Given the description of an element on the screen output the (x, y) to click on. 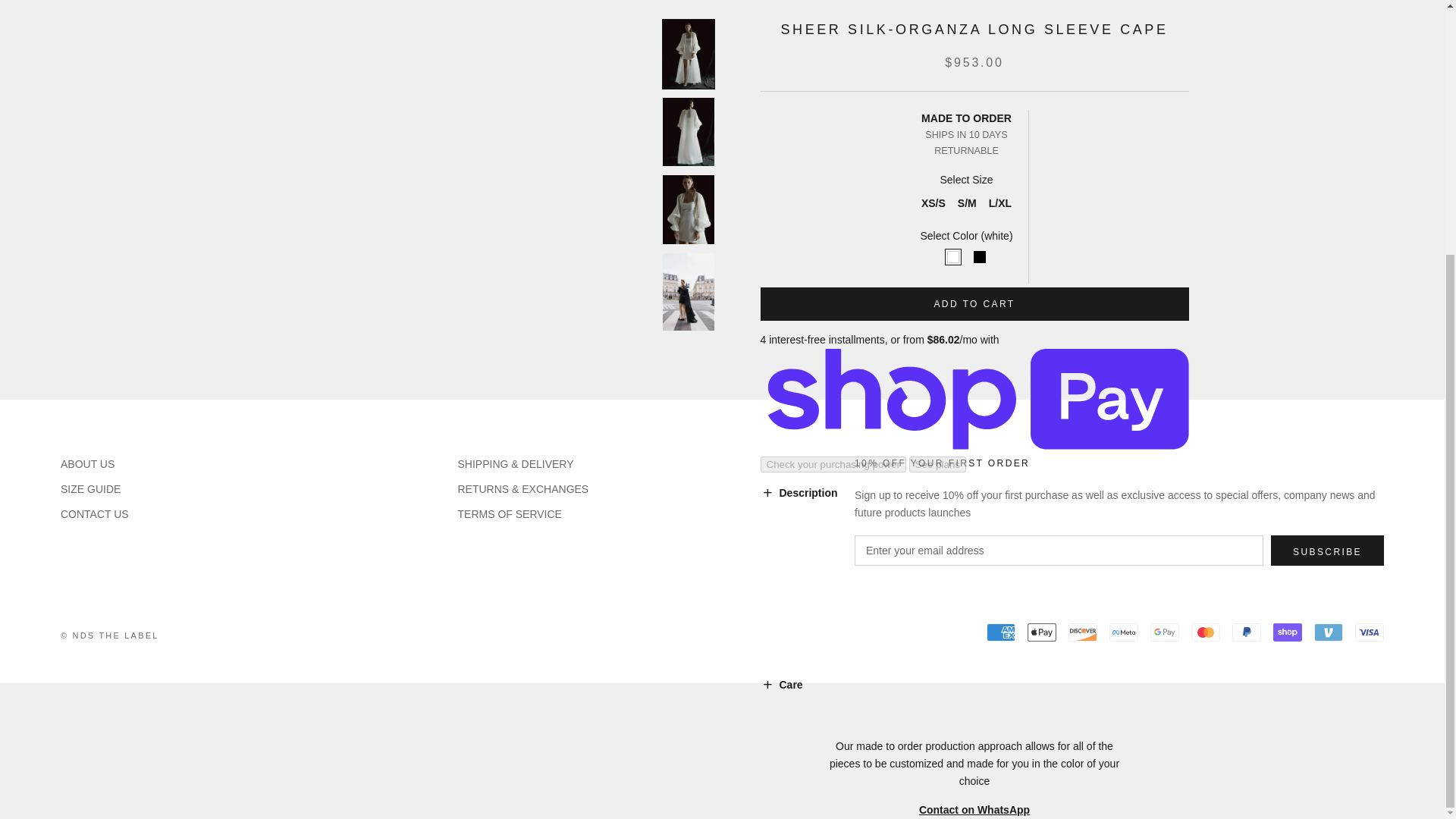
PayPal (1245, 632)
Meta Pay (1123, 632)
Visa (1369, 632)
American Express (1000, 632)
Discover (1082, 632)
Google Pay (1164, 632)
Venmo (1328, 632)
Shop Pay (1286, 632)
Apple Pay (1042, 632)
Mastercard (1205, 632)
